Given the description of an element on the screen output the (x, y) to click on. 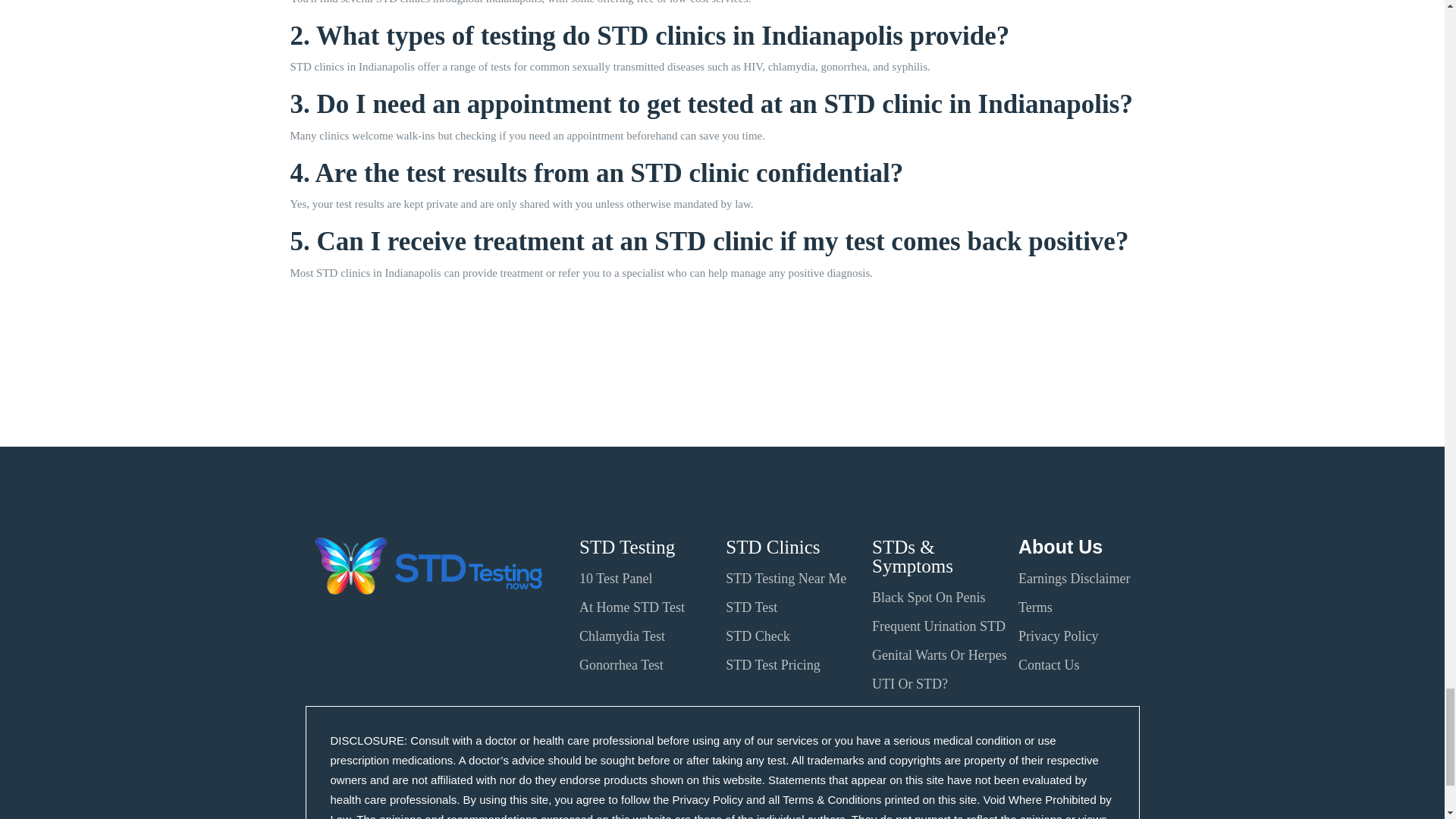
STD Clinics (772, 547)
STD Testing (627, 547)
At Home STD Test (631, 607)
Gonorrhea Test (621, 664)
Chlamydia Test (622, 635)
STD Testing Near Me (785, 578)
10 Test Panel (615, 578)
STD Test (751, 607)
